Given the description of an element on the screen output the (x, y) to click on. 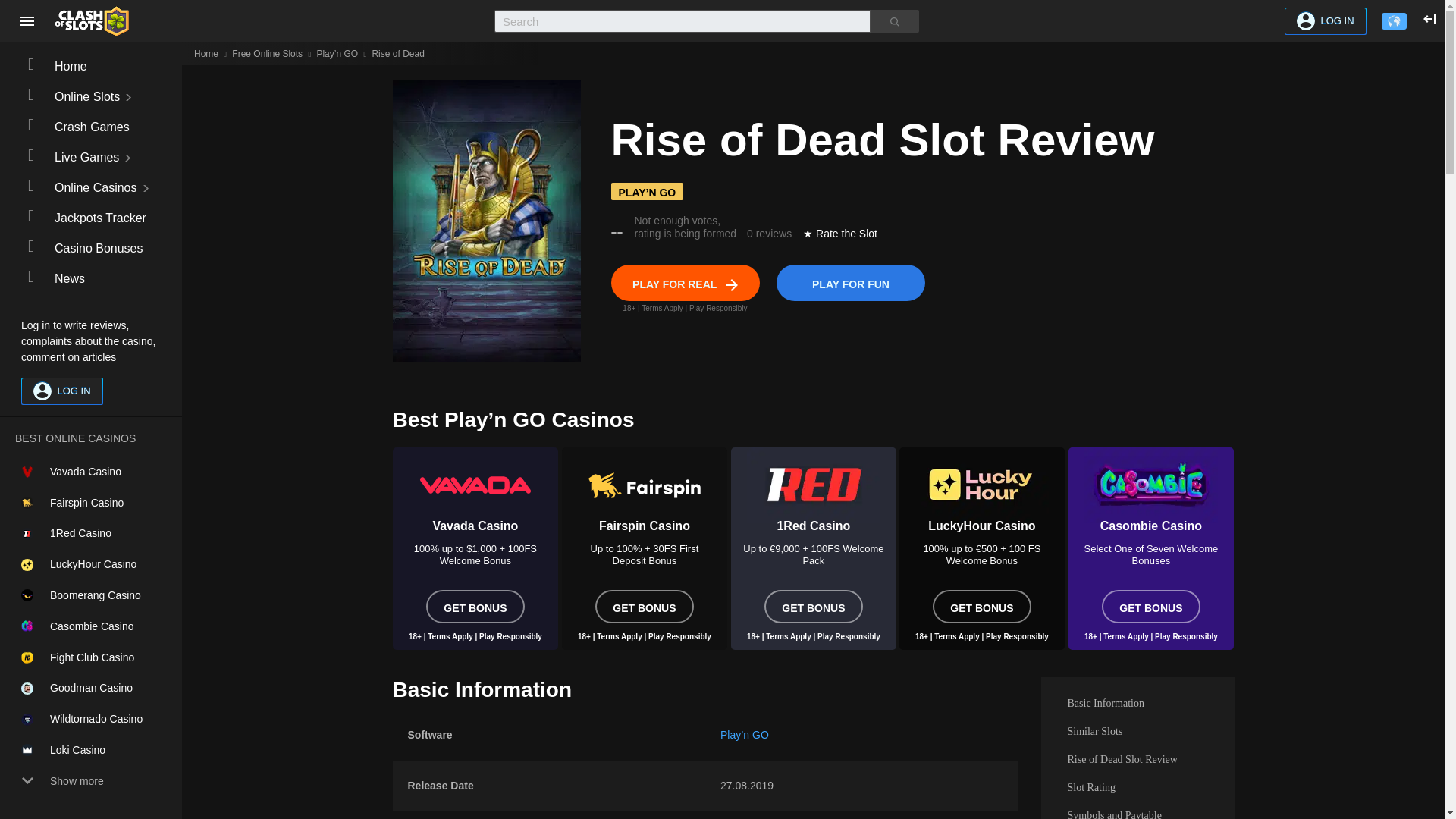
Home (205, 53)
Similar Slots (1137, 731)
Fairspin Casino (643, 491)
0 reviews (769, 233)
0 reviews (769, 233)
Symbols and Paytable (1137, 810)
PLAY FOR REAL (685, 282)
LOG IN (1325, 21)
Rise of Dead Slot Review (1137, 759)
PLAY FOR FUN (850, 282)
Free Online Slots (266, 53)
Vavada Casino (476, 491)
GET BONUS (644, 606)
Basic Information (1137, 703)
Slot Rating (1137, 787)
